Given the description of an element on the screen output the (x, y) to click on. 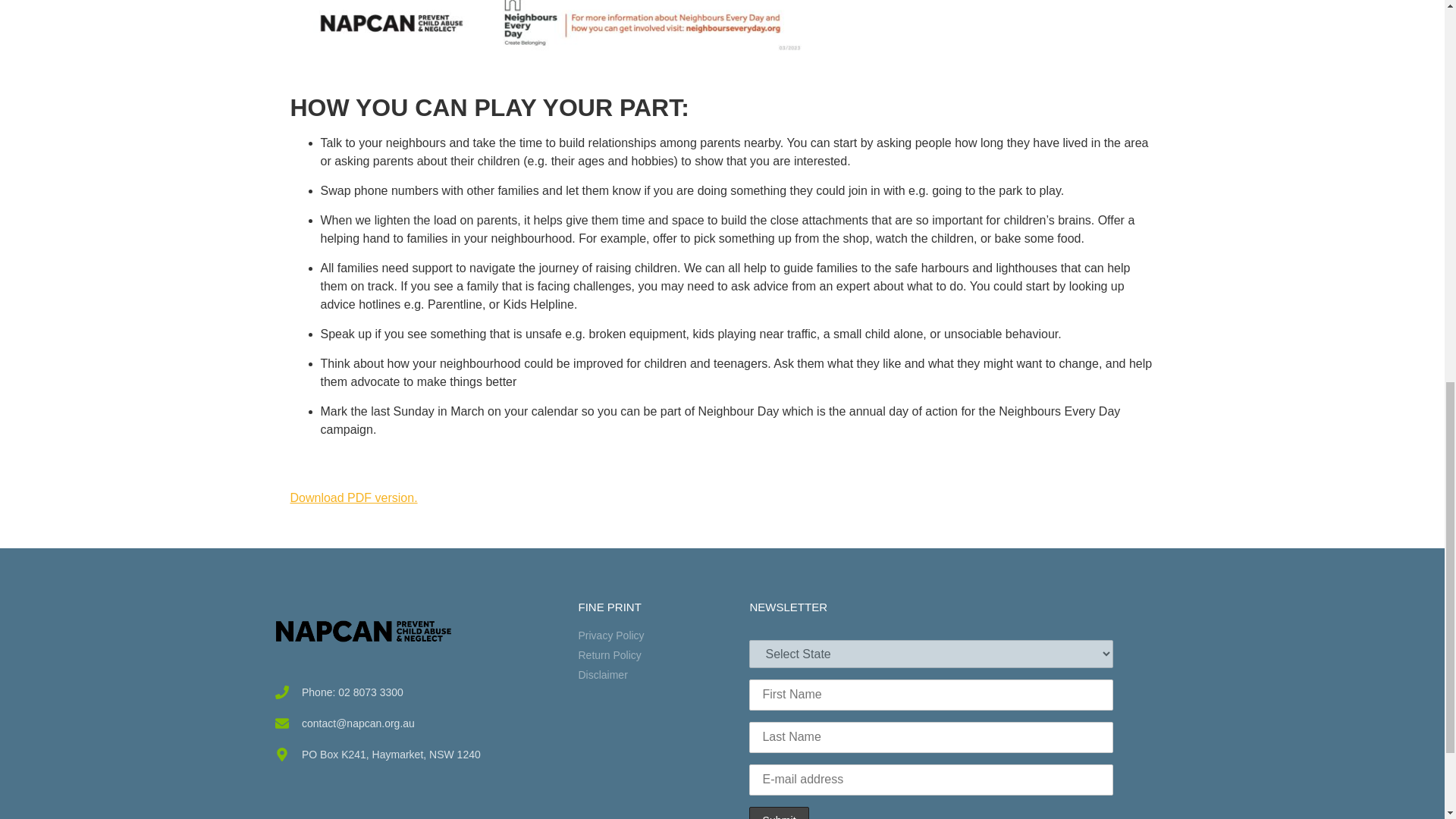
Submit (778, 812)
